Given the description of an element on the screen output the (x, y) to click on. 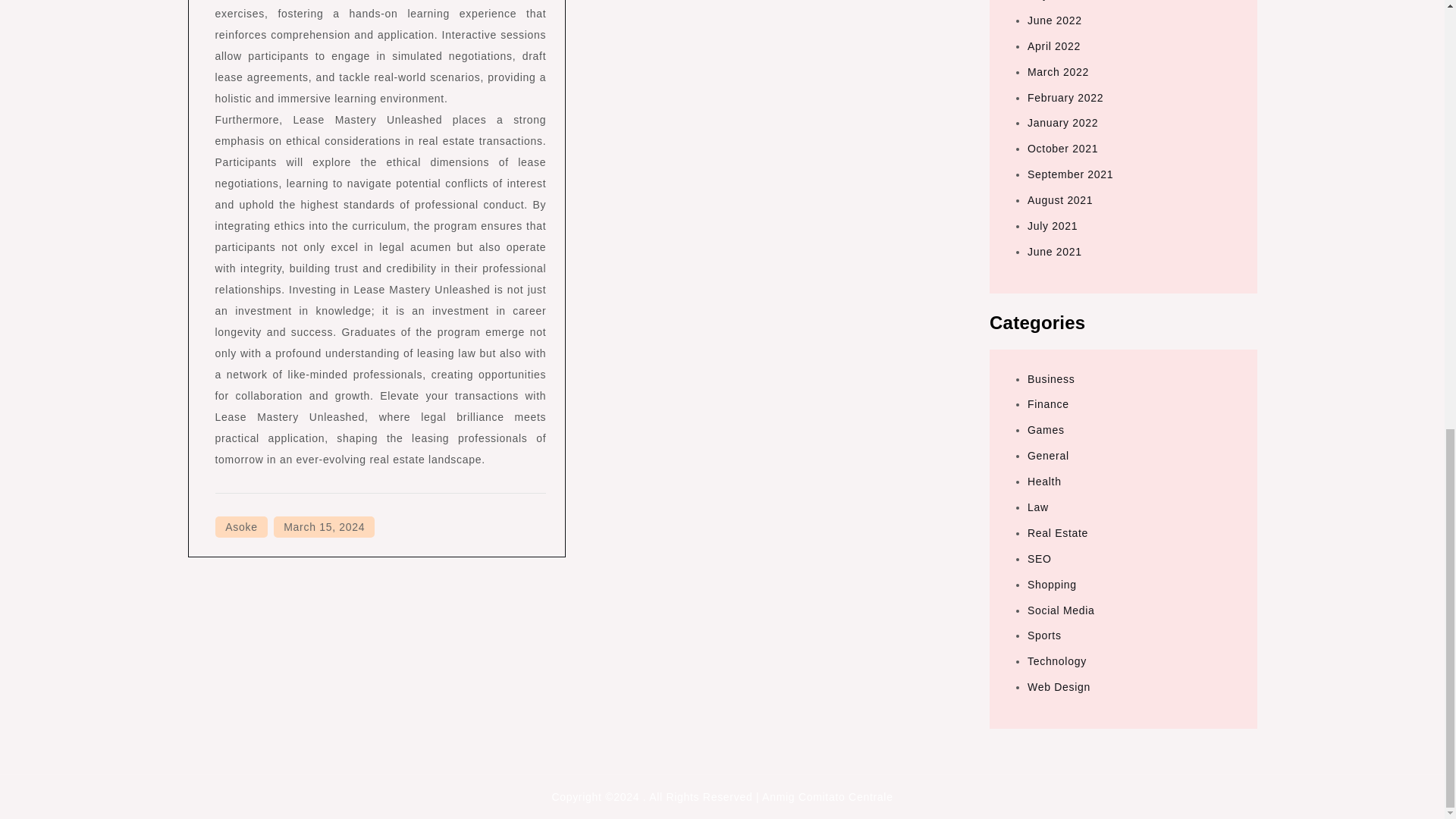
June 2021 (1054, 251)
January 2022 (1062, 122)
July 2021 (1052, 225)
March 2022 (1058, 71)
Asoke (240, 526)
October 2021 (1062, 148)
Business (1050, 378)
Games (1045, 429)
March 15, 2024 (323, 526)
April 2022 (1053, 46)
September 2021 (1070, 174)
June 2022 (1054, 20)
February 2022 (1065, 97)
August 2021 (1060, 200)
July 2022 (1052, 0)
